Given the description of an element on the screen output the (x, y) to click on. 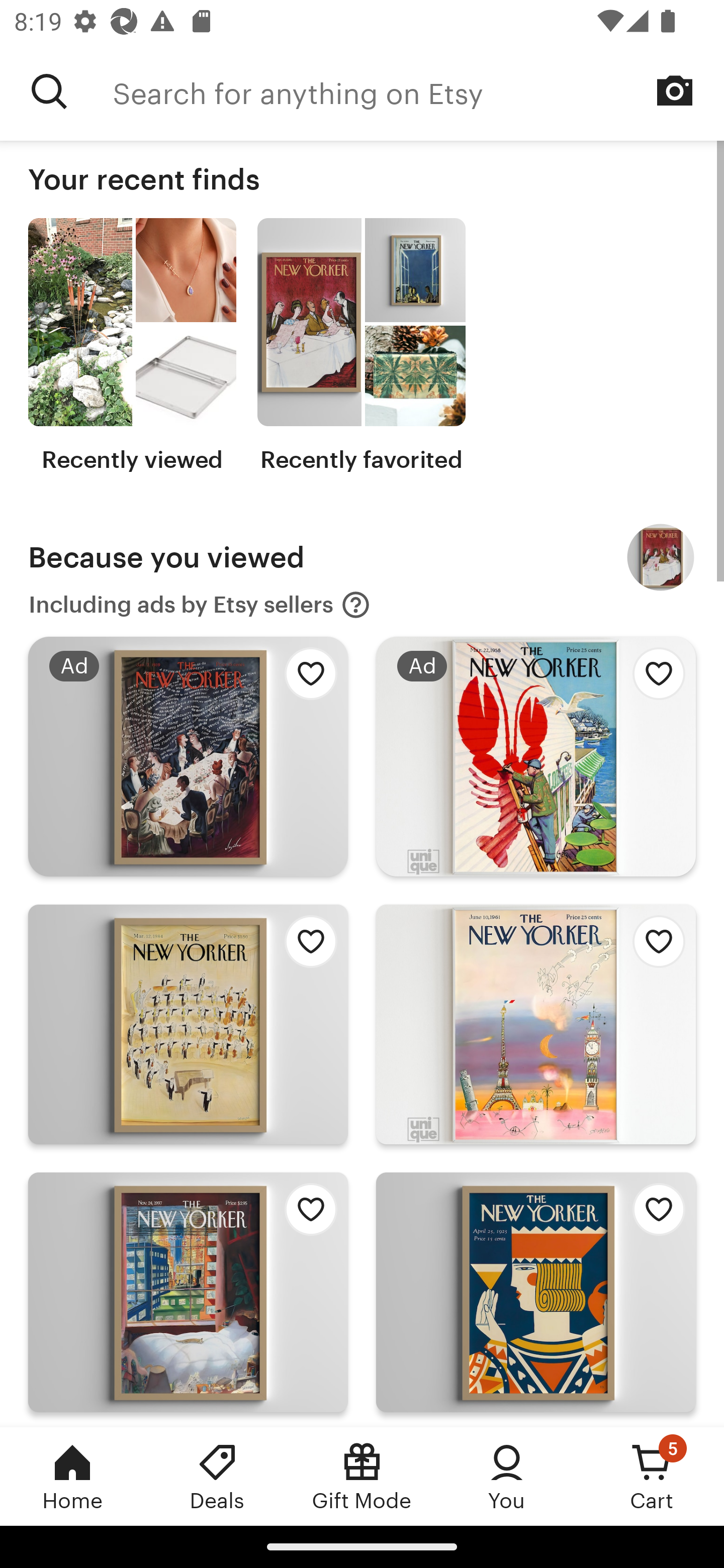
Search for anything on Etsy (49, 91)
Search by image (674, 90)
Search for anything on Etsy (418, 91)
Recently viewed (132, 345)
Recently favorited (361, 345)
Including ads by Etsy sellers (199, 604)
Deals (216, 1475)
Gift Mode (361, 1475)
You (506, 1475)
Cart, 5 new notifications Cart (651, 1475)
